Given the description of an element on the screen output the (x, y) to click on. 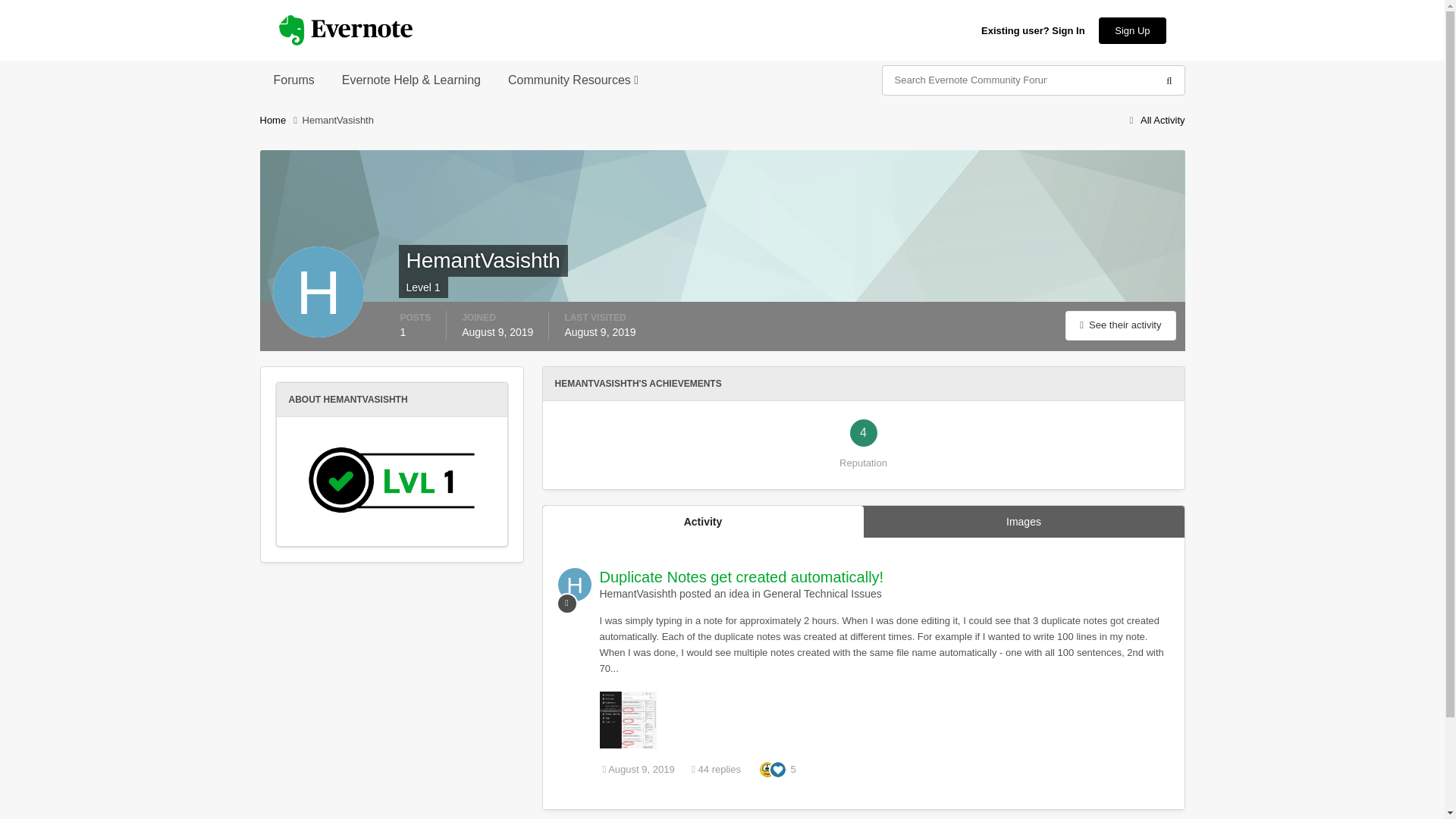
August 9, 2019 (638, 768)
Duplicate Notes get created automatically! (740, 576)
Community Resources (573, 79)
44 replies (716, 768)
All Activity (1154, 120)
Activity (703, 521)
Home (280, 120)
HemantVasishth (637, 593)
HemantVasishth (338, 120)
Like (777, 767)
